Given the description of an element on the screen output the (x, y) to click on. 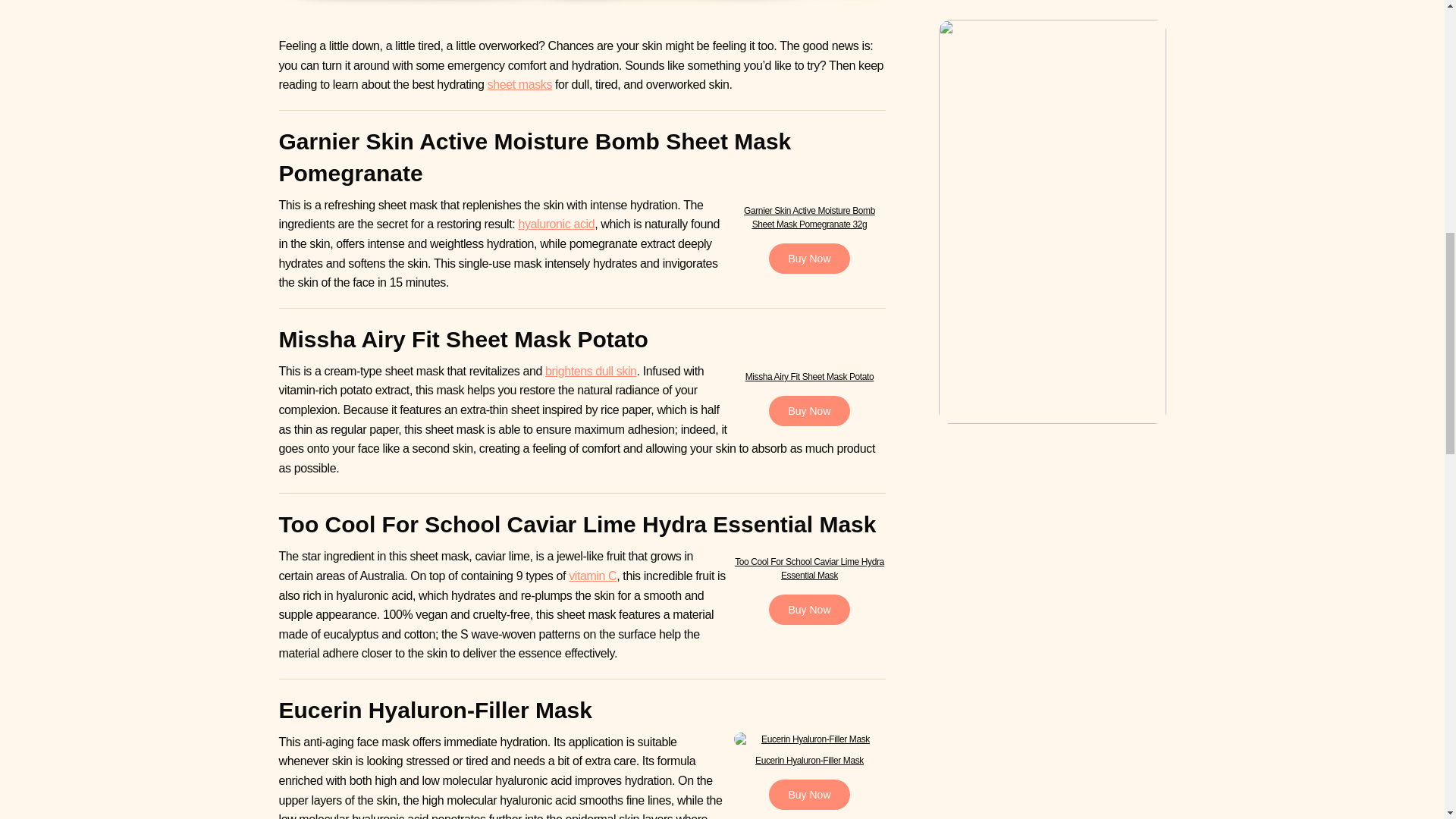
Buy Now (808, 410)
sheet masks (519, 83)
hyaluronic acid (556, 223)
Buy Now (808, 258)
brightens dull skin (590, 370)
